Given the description of an element on the screen output the (x, y) to click on. 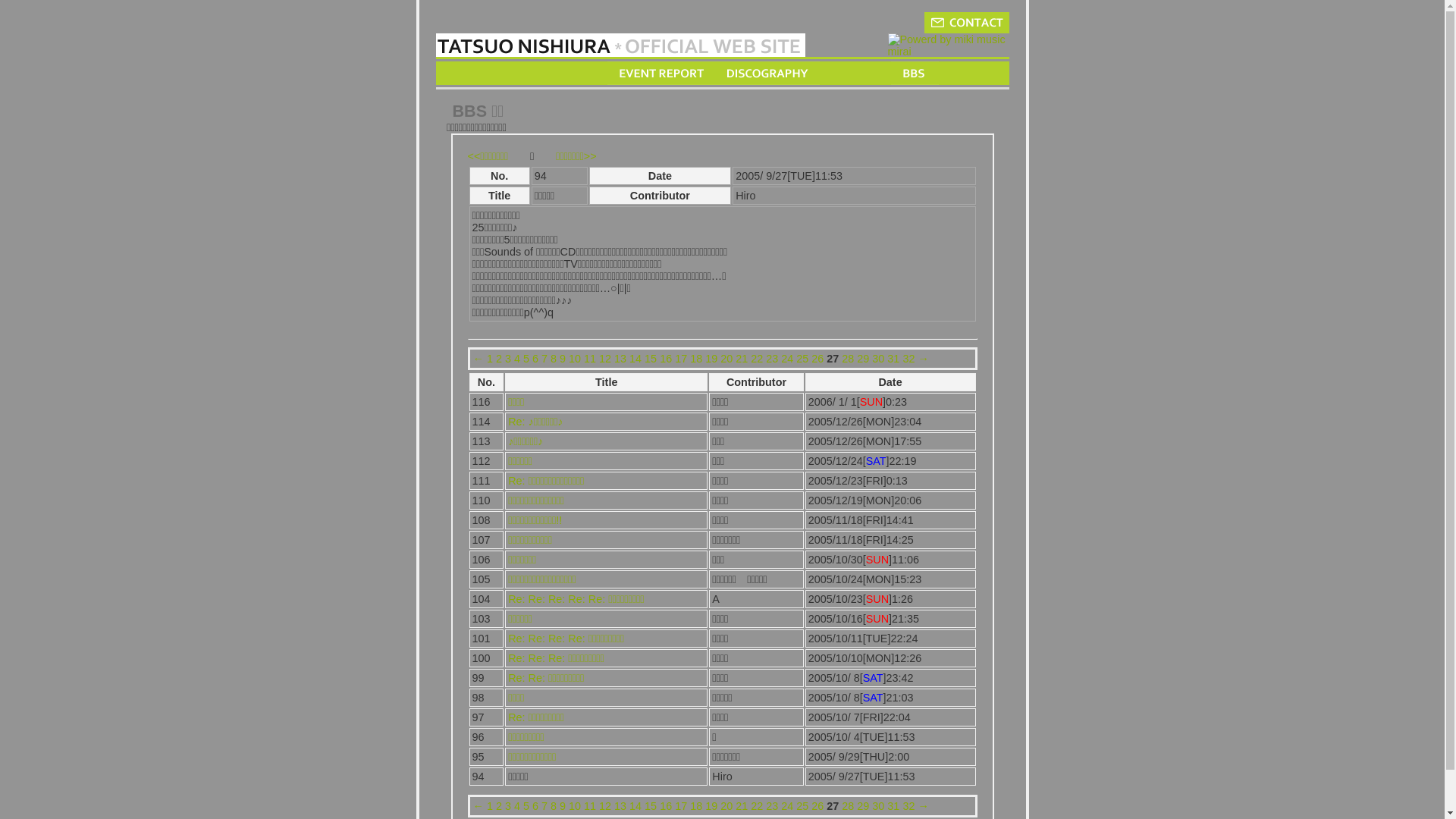
17 Element type: text (680, 806)
5 Element type: text (526, 806)
LIVE Element type: text (582, 72)
EVENT REPORT Element type: text (659, 72)
16 Element type: text (665, 358)
6 Element type: text (535, 358)
2 Element type: text (498, 806)
14 Element type: text (635, 806)
30 Element type: text (878, 806)
23 Element type: text (771, 806)
BBS Element type: text (914, 72)
31 Element type: text (893, 358)
17 Element type: text (680, 358)
10 Element type: text (574, 806)
31 Element type: text (893, 806)
HOME Element type: text (472, 72)
2 Element type: text (498, 358)
TOPICS Element type: text (527, 72)
4 Element type: text (517, 806)
11 Element type: text (589, 806)
9 Element type: text (562, 358)
13 Element type: text (620, 358)
15 Element type: text (650, 806)
3 Element type: text (508, 358)
32 Element type: text (908, 358)
5 Element type: text (526, 358)
28 Element type: text (847, 358)
32 Element type: text (908, 806)
25 Element type: text (802, 358)
12 Element type: text (605, 358)
1 Element type: text (489, 358)
16 Element type: text (665, 806)
22 Element type: text (756, 806)
PROFILE Element type: text (854, 72)
DISCOGRAPHY Element type: text (766, 72)
12 Element type: text (605, 806)
20 Element type: text (726, 358)
21 Element type: text (741, 358)
13 Element type: text (620, 806)
26 Element type: text (817, 806)
15 Element type: text (650, 358)
11 Element type: text (589, 358)
24 Element type: text (787, 806)
10 Element type: text (574, 358)
7 Element type: text (544, 806)
18 Element type: text (696, 806)
23 Element type: text (771, 358)
8 Element type: text (553, 358)
7 Element type: text (544, 358)
20 Element type: text (726, 806)
30 Element type: text (878, 358)
22 Element type: text (756, 358)
9 Element type: text (562, 806)
29 Element type: text (862, 358)
1 Element type: text (489, 806)
18 Element type: text (696, 358)
21 Element type: text (741, 806)
28 Element type: text (847, 806)
14 Element type: text (635, 358)
19 Element type: text (711, 358)
6 Element type: text (535, 806)
8 Element type: text (553, 806)
4 Element type: text (517, 358)
19 Element type: text (711, 806)
29 Element type: text (862, 806)
25 Element type: text (802, 806)
3 Element type: text (508, 806)
24 Element type: text (787, 358)
26 Element type: text (817, 358)
